Given the description of an element on the screen output the (x, y) to click on. 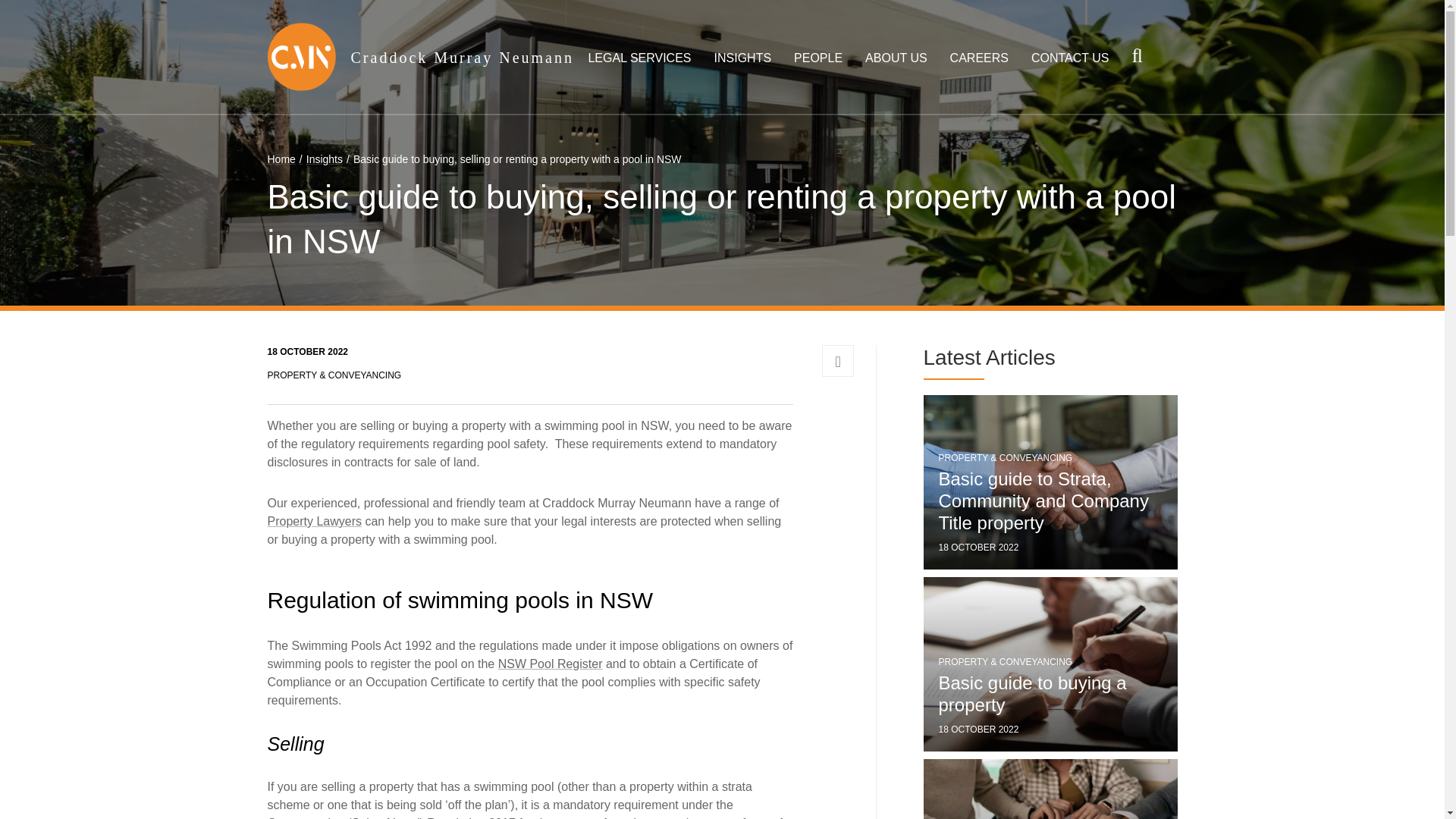
Craddock Murray Neumann (461, 56)
PEOPLE (818, 57)
CONTACT US (1069, 57)
LEGAL SERVICES (639, 57)
CAREERS (979, 57)
Insights (318, 159)
ABOUT US (895, 57)
Property Lawyers (313, 521)
Home (280, 159)
NSW Pool Register (549, 663)
INSIGHTS (742, 57)
